Given the description of an element on the screen output the (x, y) to click on. 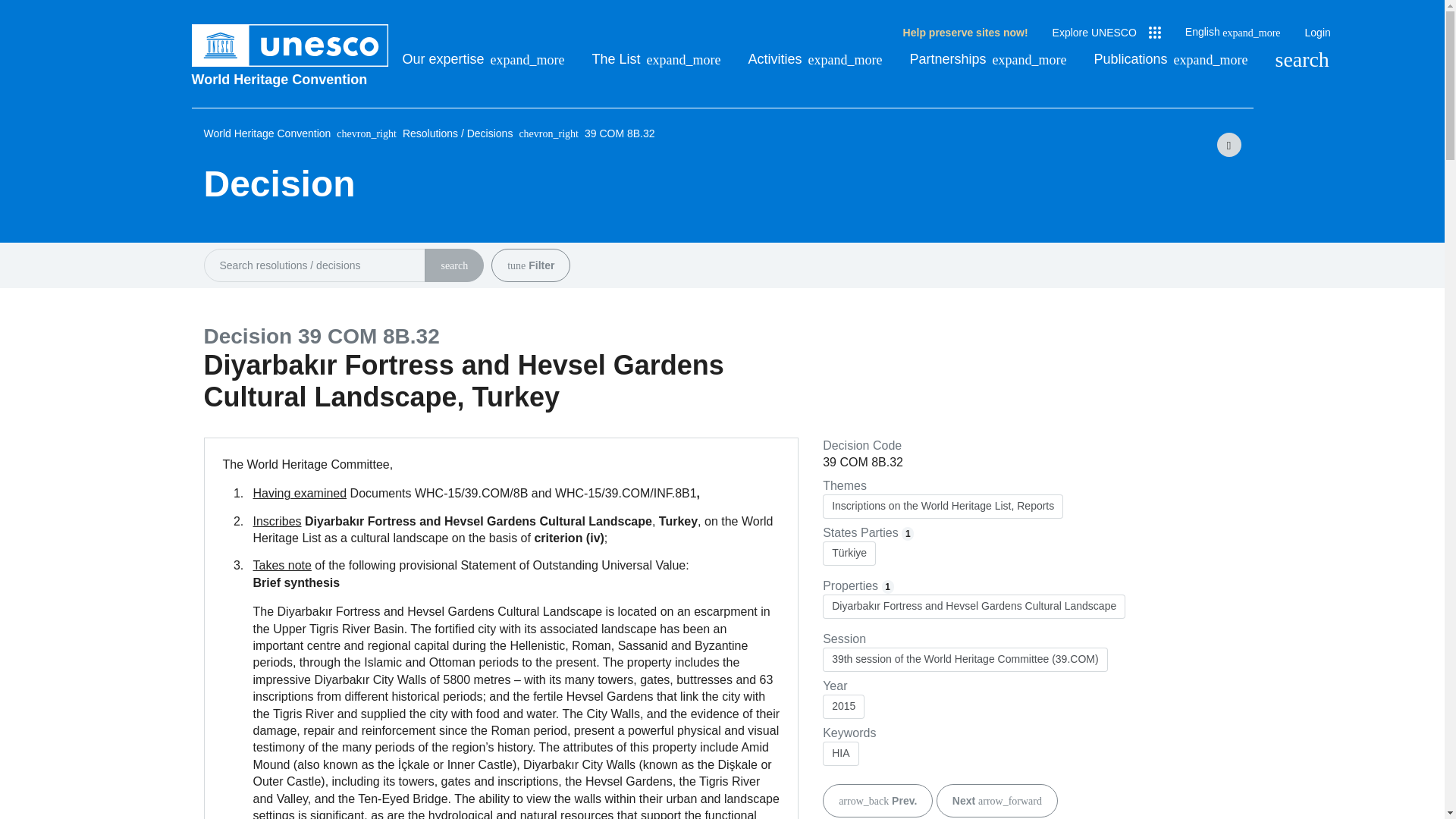
Explore UNESCO (1106, 32)
Login (1317, 32)
World Heritage Convention (289, 79)
Search (1302, 59)
8B.33 - The Forth Bridge, United Kingdom (997, 800)
Help preserve sites now! (964, 32)
The List (656, 58)
Our expertise (482, 58)
Filter your search (515, 266)
English (1233, 32)
